Given the description of an element on the screen output the (x, y) to click on. 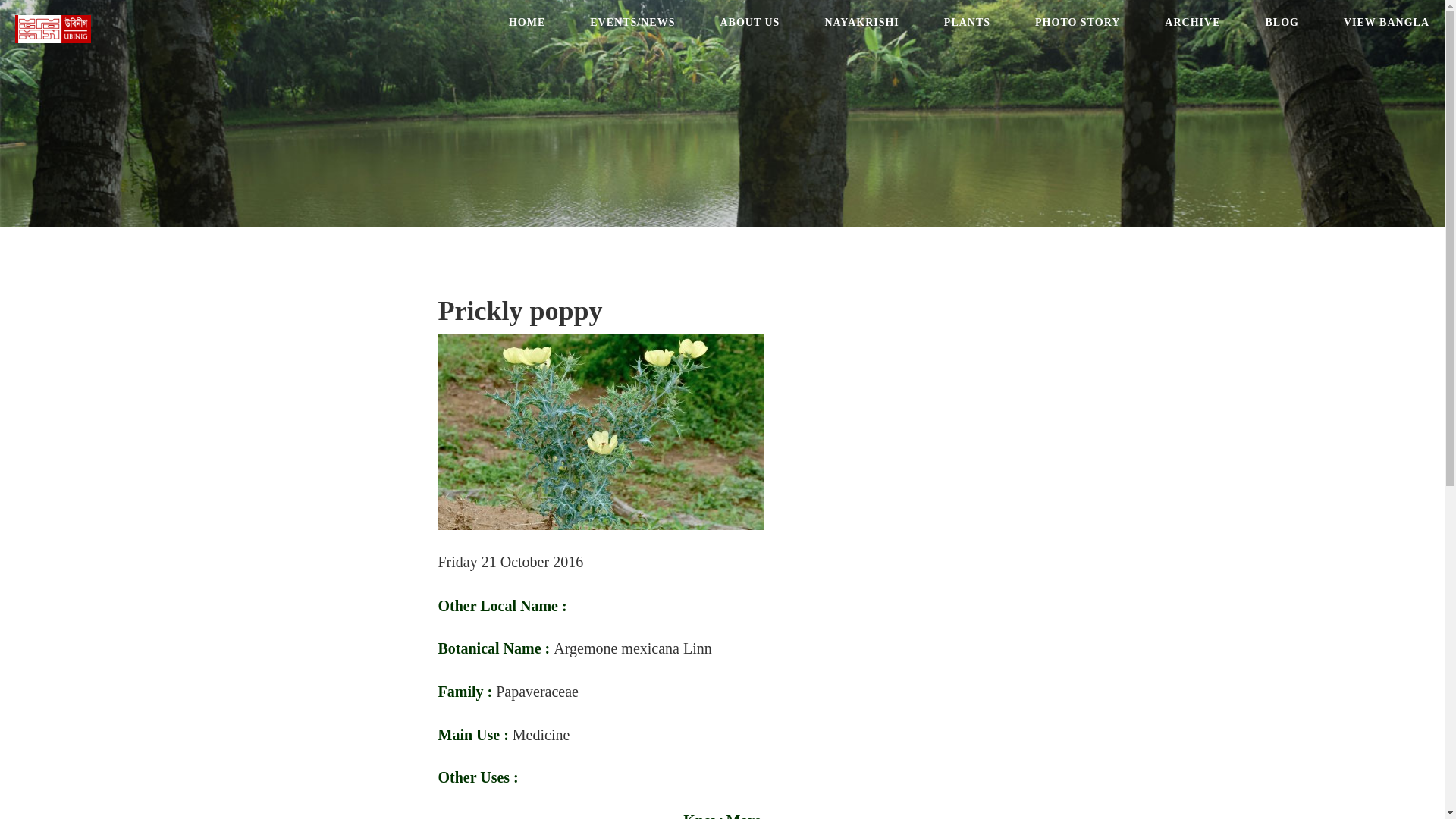
PLANTS (967, 22)
NAYAKRISHI (861, 22)
BLOG (1281, 22)
HOME (526, 22)
PHOTO STORY (1077, 22)
ARCHIVE (1192, 22)
ABOUT US (749, 22)
